Given the description of an element on the screen output the (x, y) to click on. 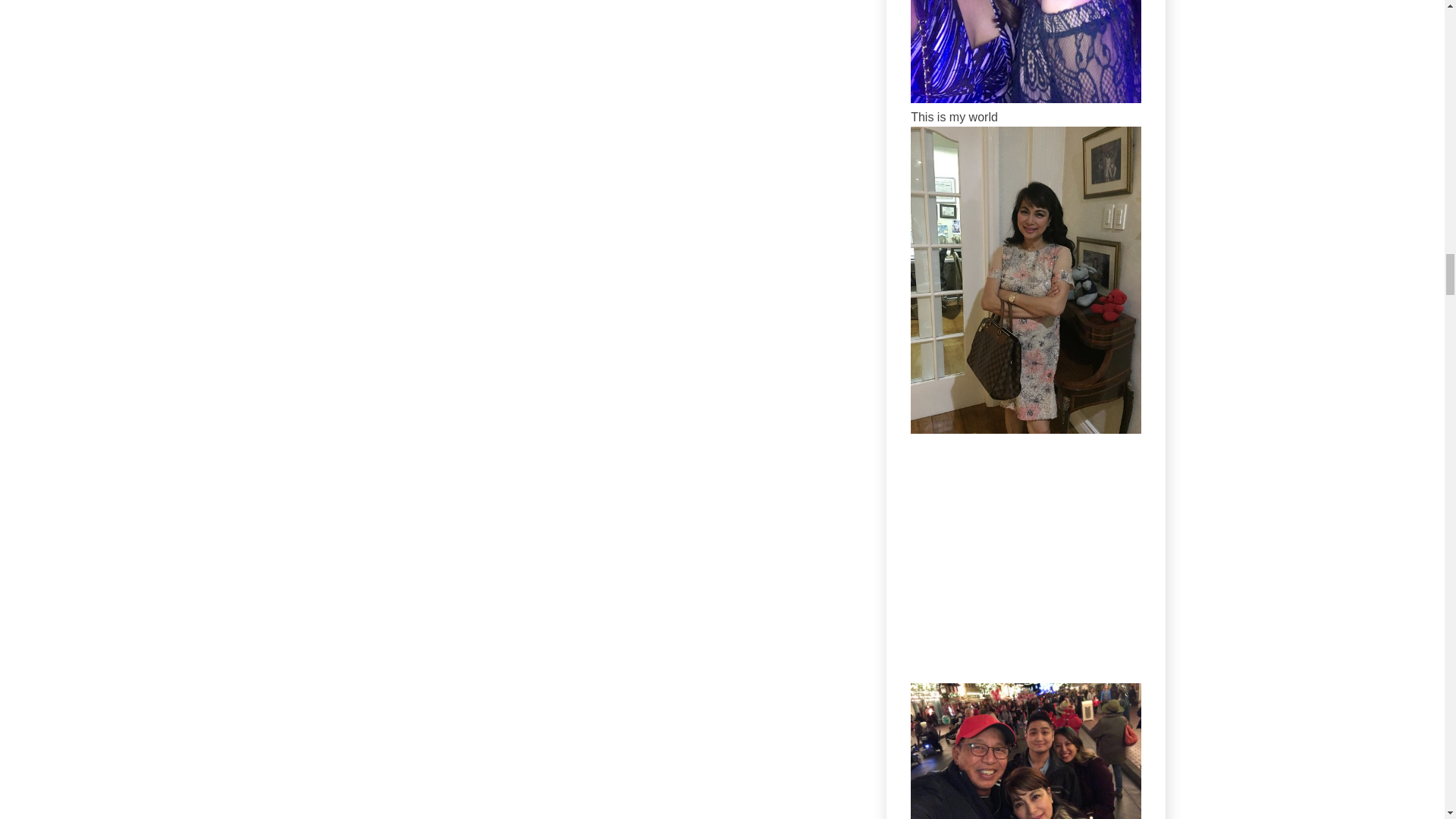
ford convention 341, mom and daughter (1026, 98)
acty july 25, 2015 OMB (1026, 429)
